Given the description of an element on the screen output the (x, y) to click on. 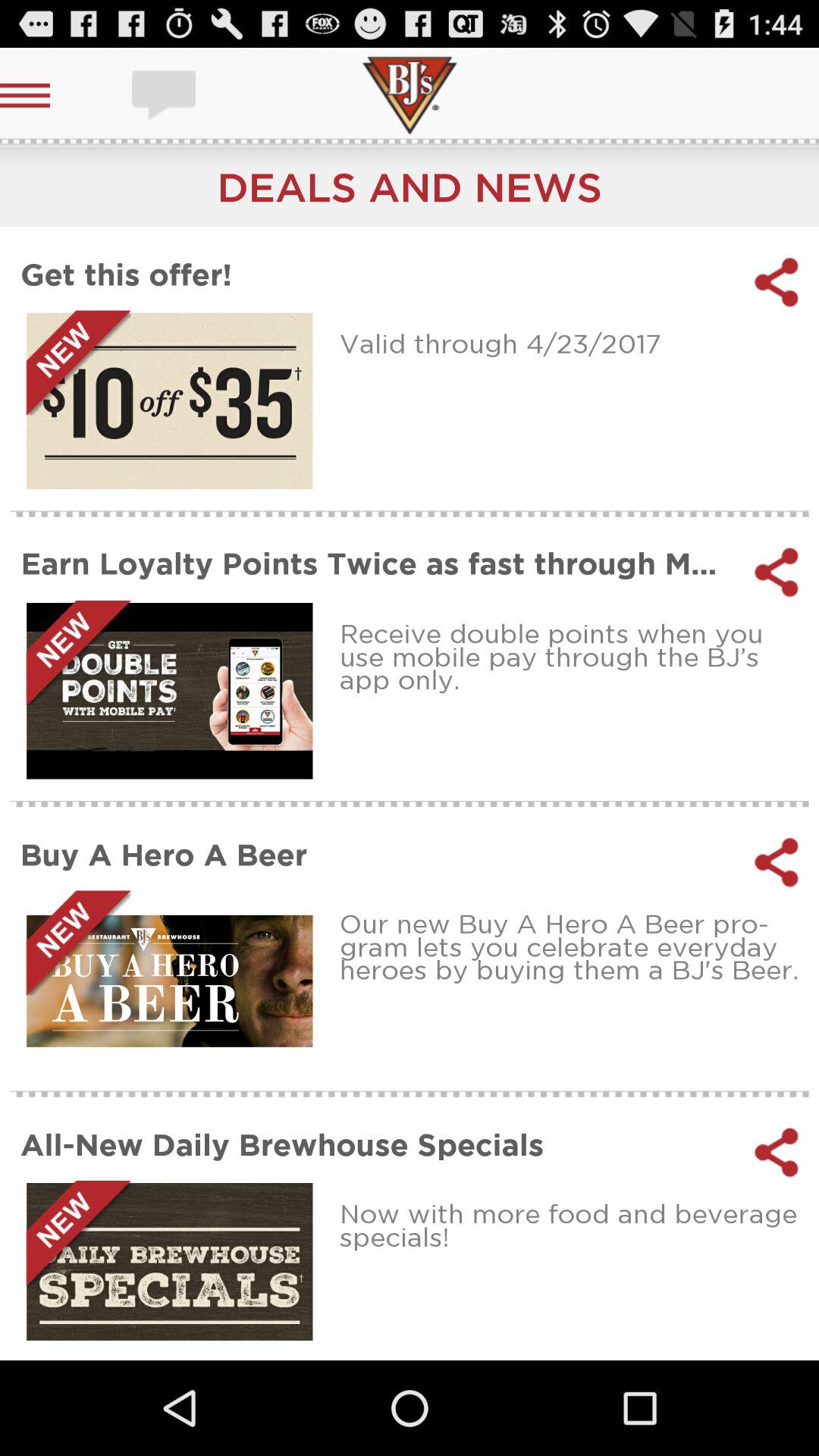
jump to receive double points icon (573, 656)
